Given the description of an element on the screen output the (x, y) to click on. 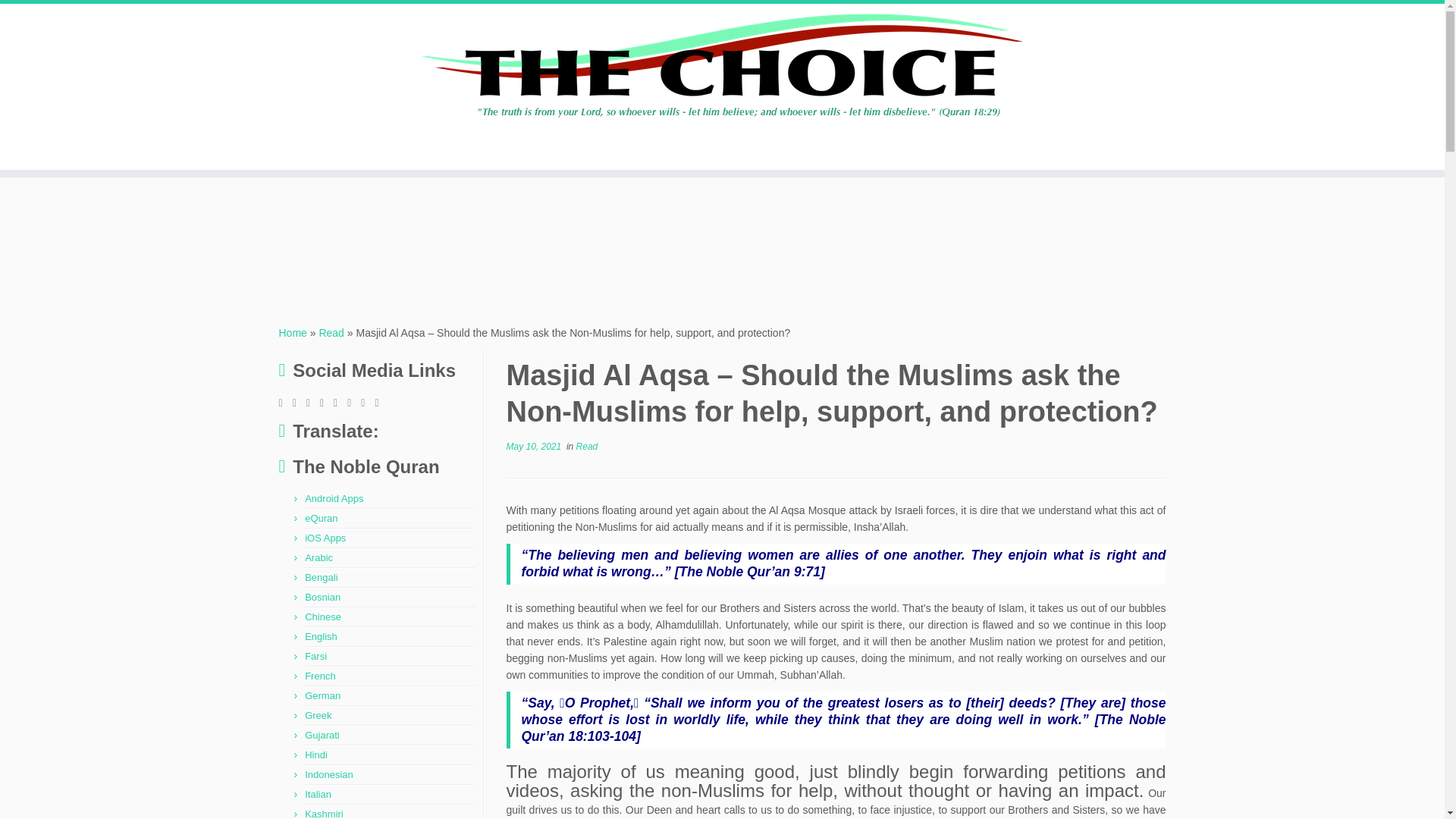
Farsi (315, 655)
Greek (317, 715)
Gujarati (321, 735)
Indonesian (328, 774)
English (320, 636)
eQuran (320, 518)
Chinese (322, 616)
View all posts in Read (587, 446)
Arabic (318, 557)
French (319, 675)
